Given the description of an element on the screen output the (x, y) to click on. 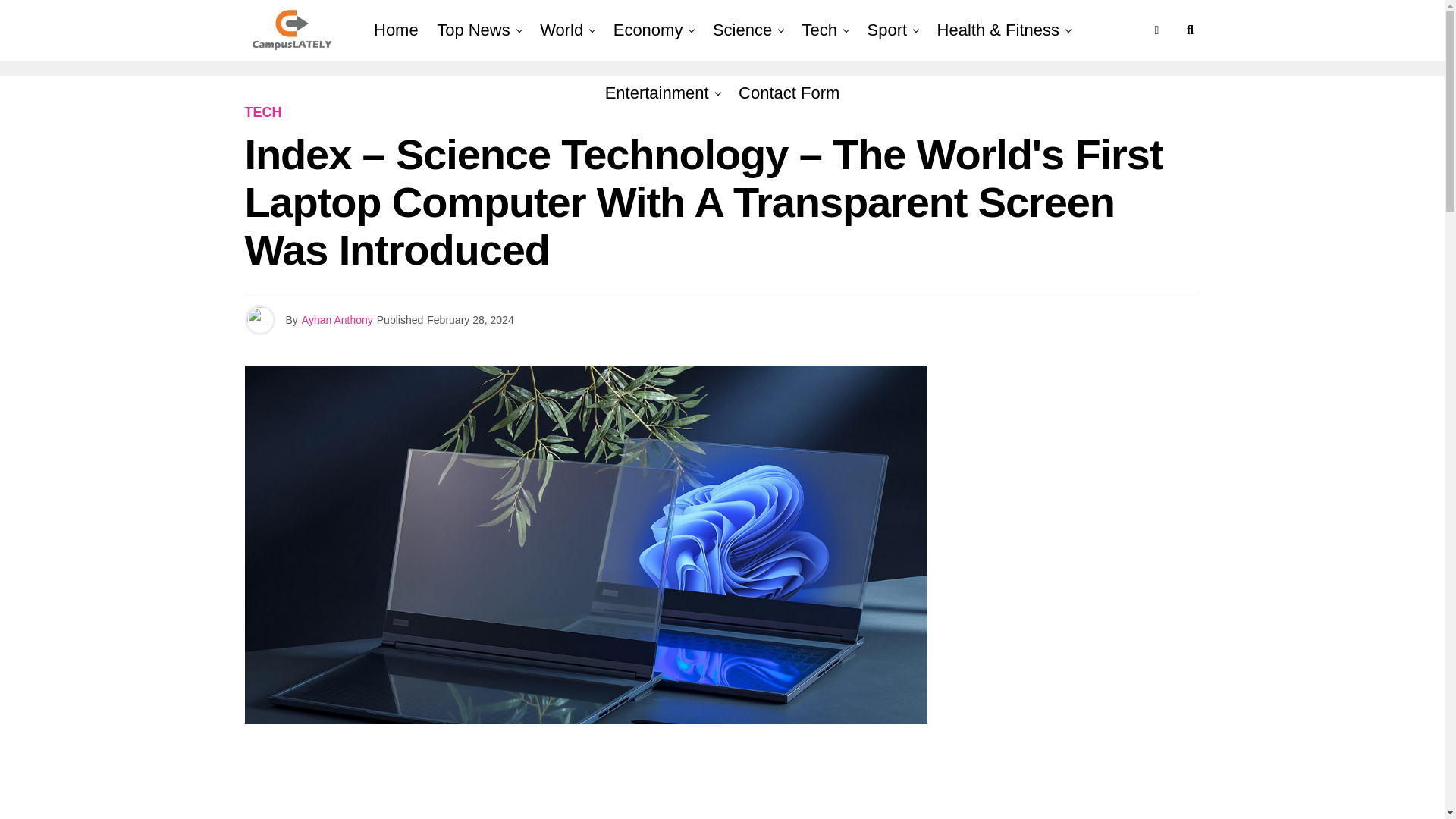
World (561, 30)
Home (396, 30)
Science (741, 30)
Top News (473, 30)
Sport (887, 30)
Economy (647, 30)
